Given the description of an element on the screen output the (x, y) to click on. 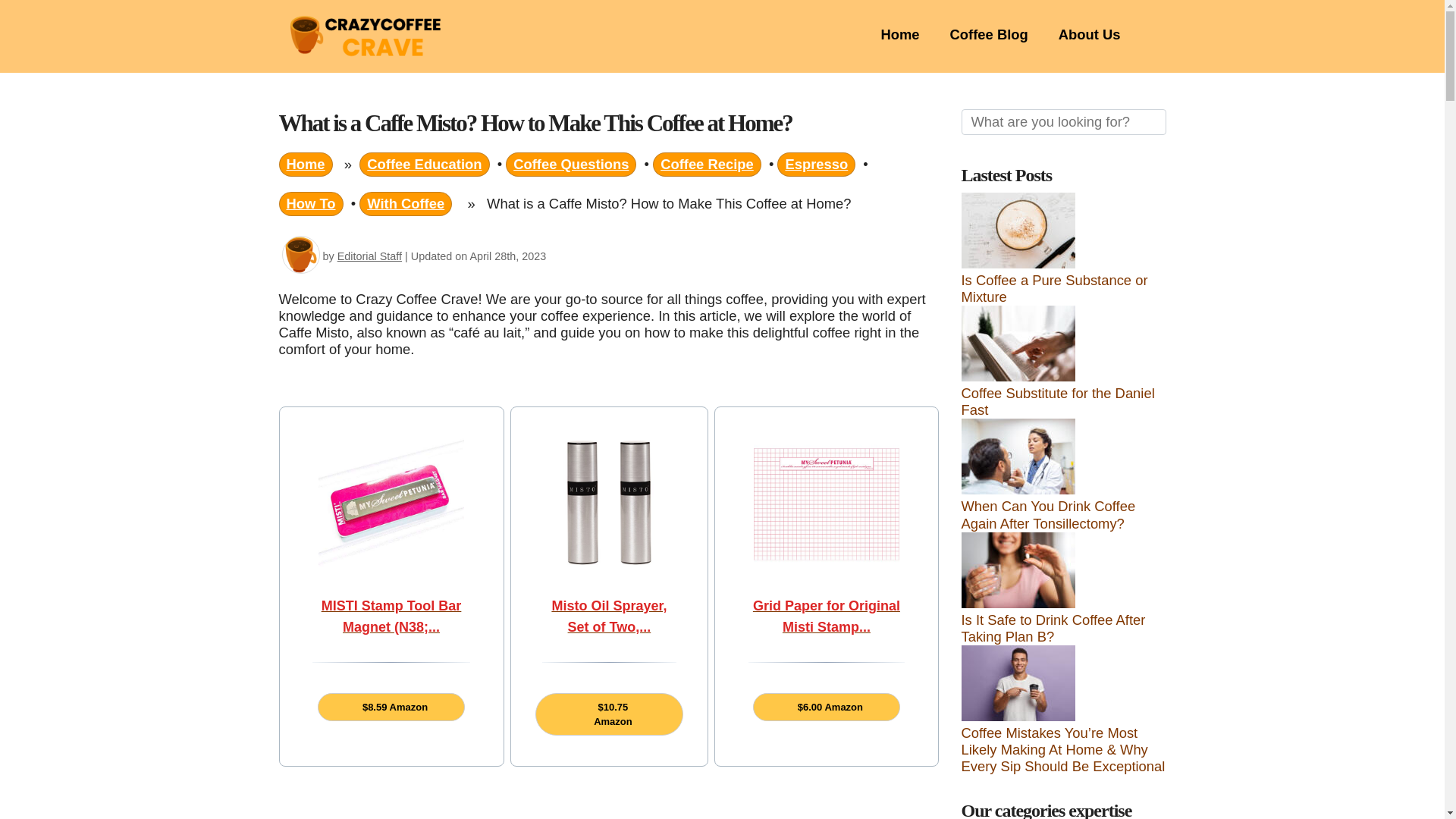
Espresso (816, 164)
About Us (1089, 34)
Coffee Recipe (706, 164)
Coffee Blog (989, 34)
crazy (301, 254)
How To (311, 203)
Home (306, 164)
With Coffee (405, 203)
Coffee Questions (570, 164)
Editorial Staff (369, 256)
